Given the description of an element on the screen output the (x, y) to click on. 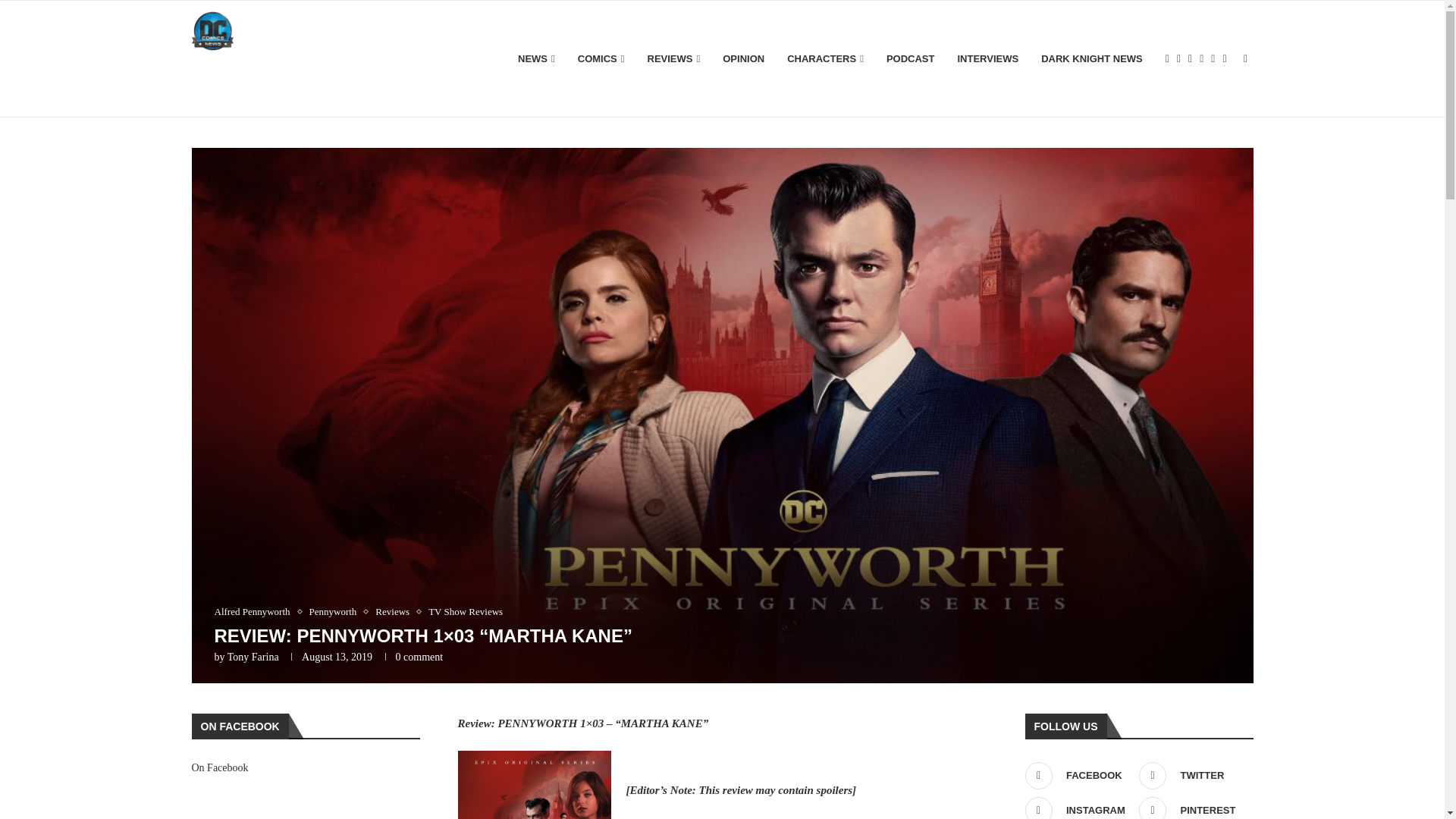
Alfred Pennyworth (255, 612)
